Given the description of an element on the screen output the (x, y) to click on. 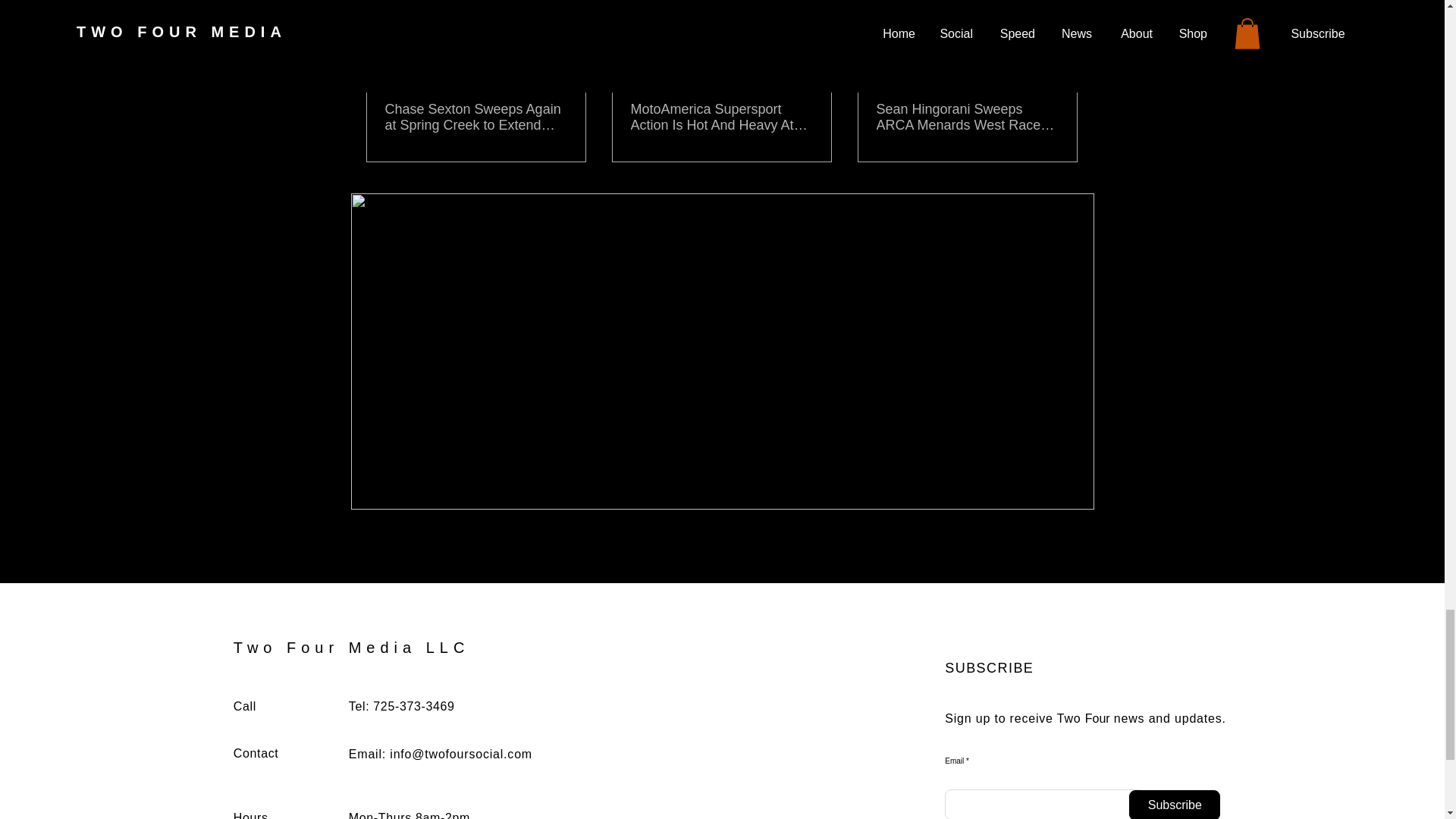
Subscribe (1174, 804)
Call (244, 706)
Hours (249, 815)
Two Four Media LLC (351, 647)
Contact (255, 753)
